Given the description of an element on the screen output the (x, y) to click on. 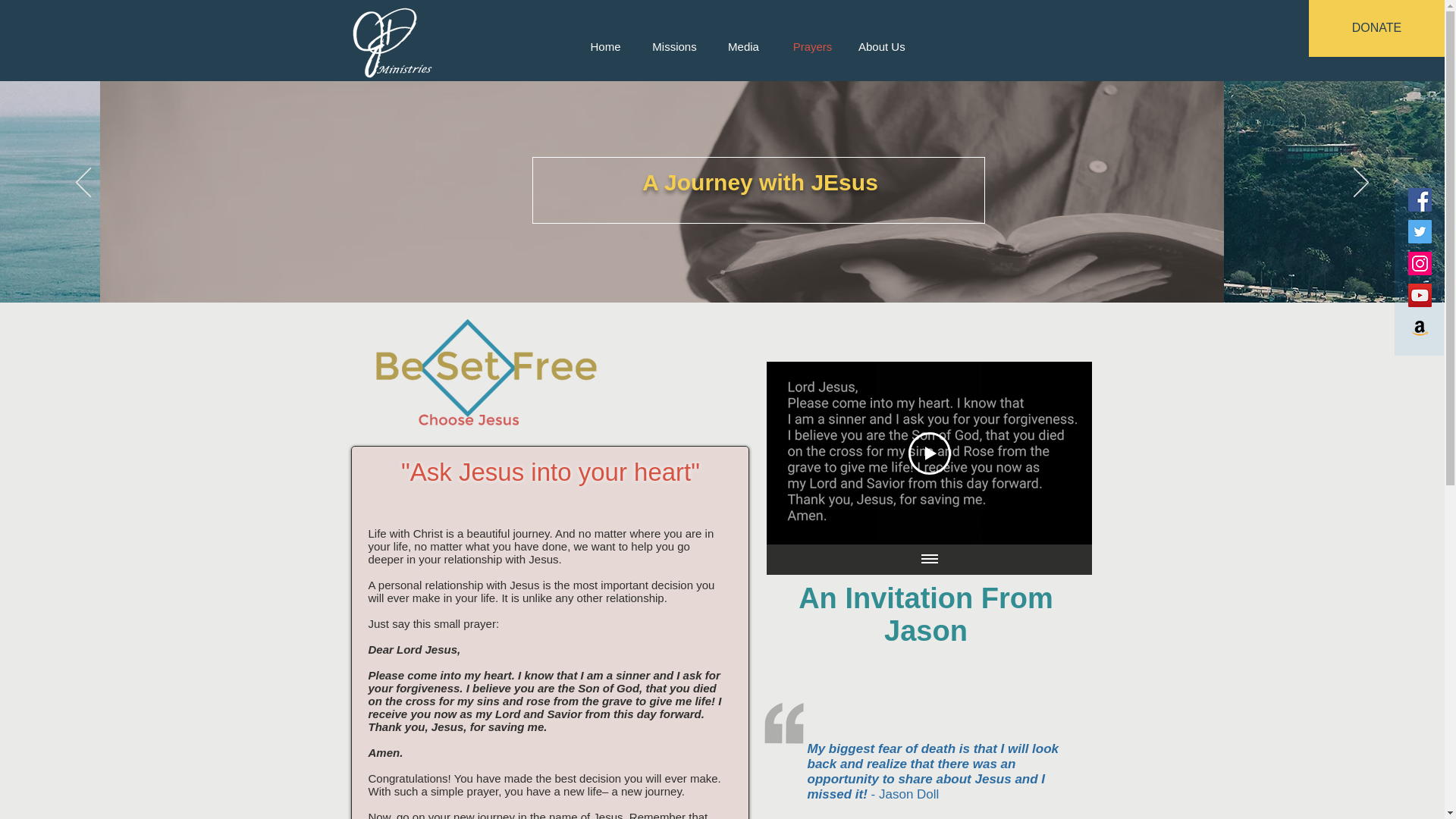
Missions (674, 46)
JD Ministries (360, 28)
About Us (881, 46)
Prayers (812, 46)
Home (605, 46)
Media (743, 46)
